Given the description of an element on the screen output the (x, y) to click on. 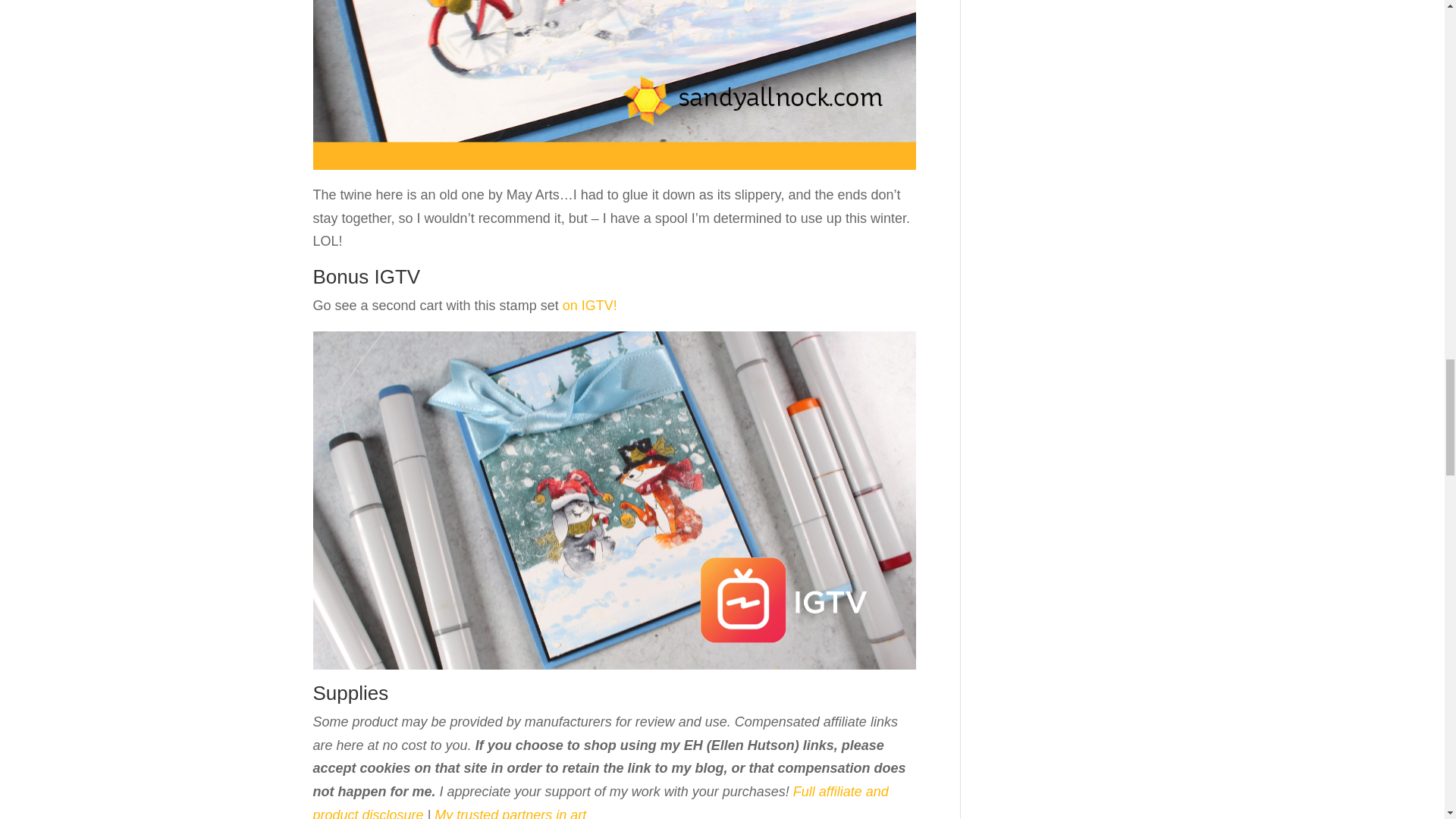
Full affiliate and product disclosure (600, 801)
on IGTV! (589, 305)
My trusted partners in art (509, 813)
